Given the description of an element on the screen output the (x, y) to click on. 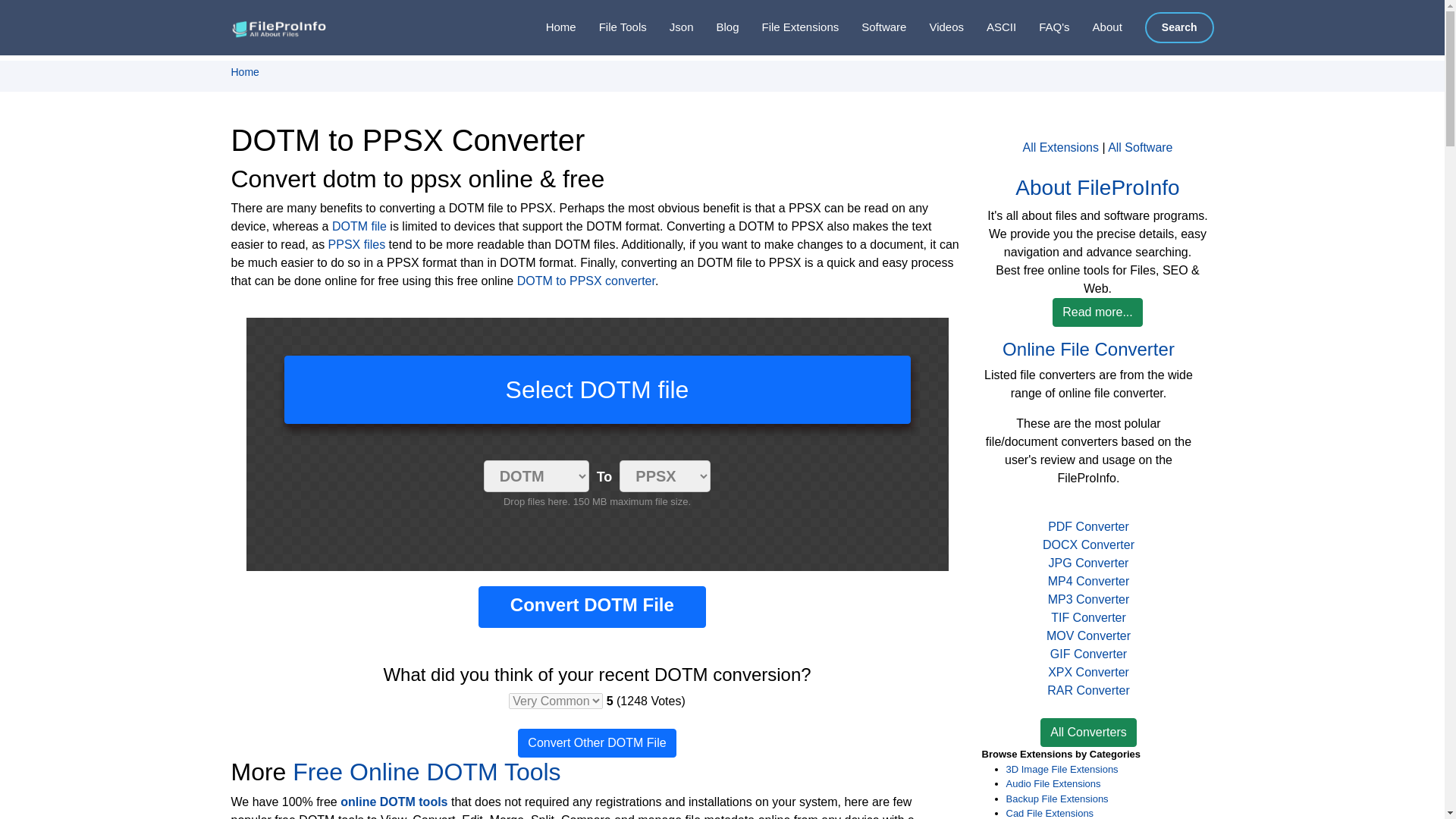
File Tools (611, 27)
File Extensions (789, 27)
Convert Other DOTM File (596, 742)
Browse all free online DOTM tools (393, 801)
Software (871, 27)
ASCII (989, 27)
File Extensions (789, 27)
Blog (715, 27)
Free online Json tools (670, 27)
FAQ's (1042, 27)
FAQ's (1042, 27)
ASCII table (989, 27)
Search (1179, 27)
Blog (715, 27)
Home FileProInfo.com (549, 27)
